Given the description of an element on the screen output the (x, y) to click on. 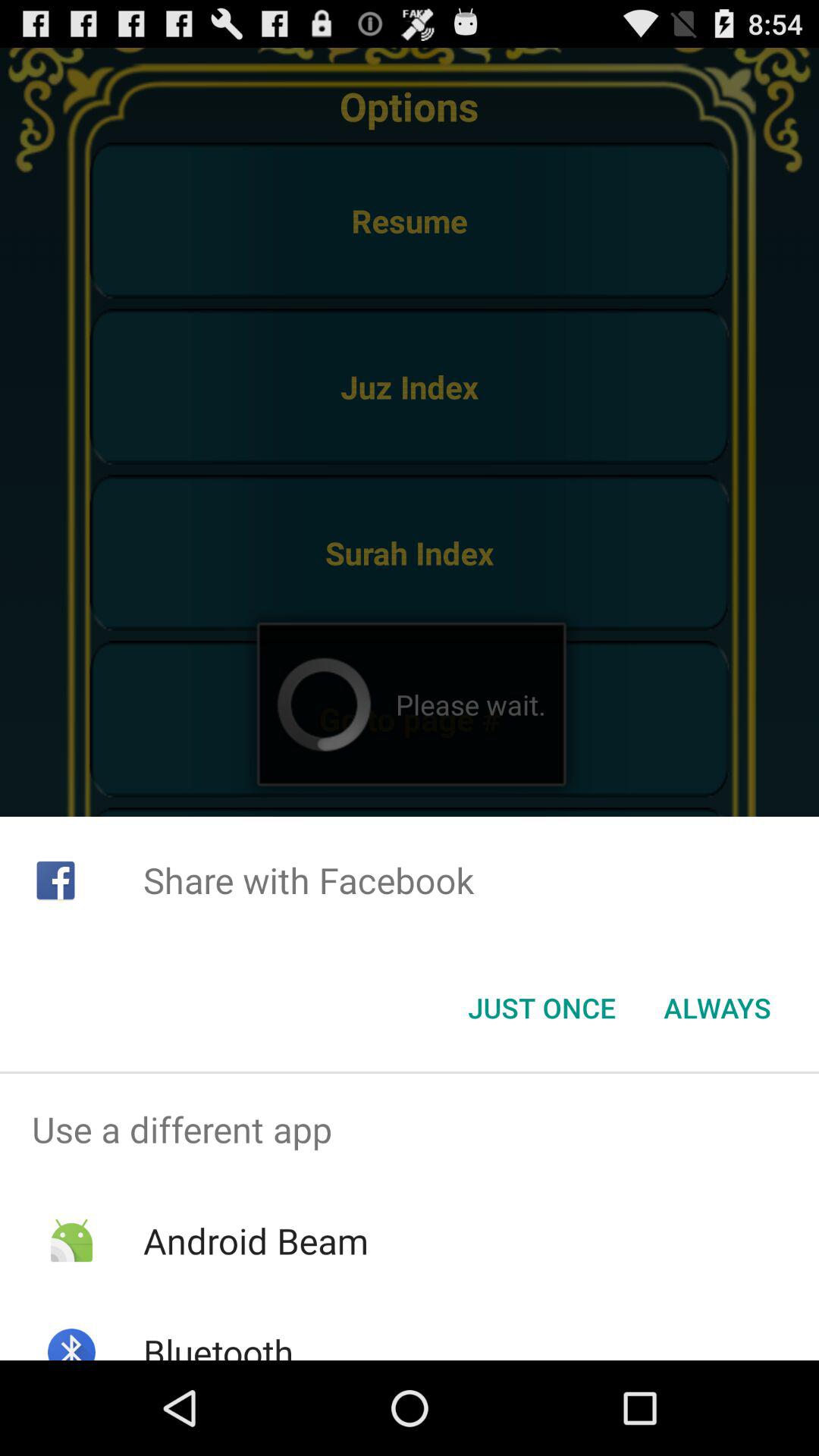
jump to the bluetooth item (218, 1344)
